Given the description of an element on the screen output the (x, y) to click on. 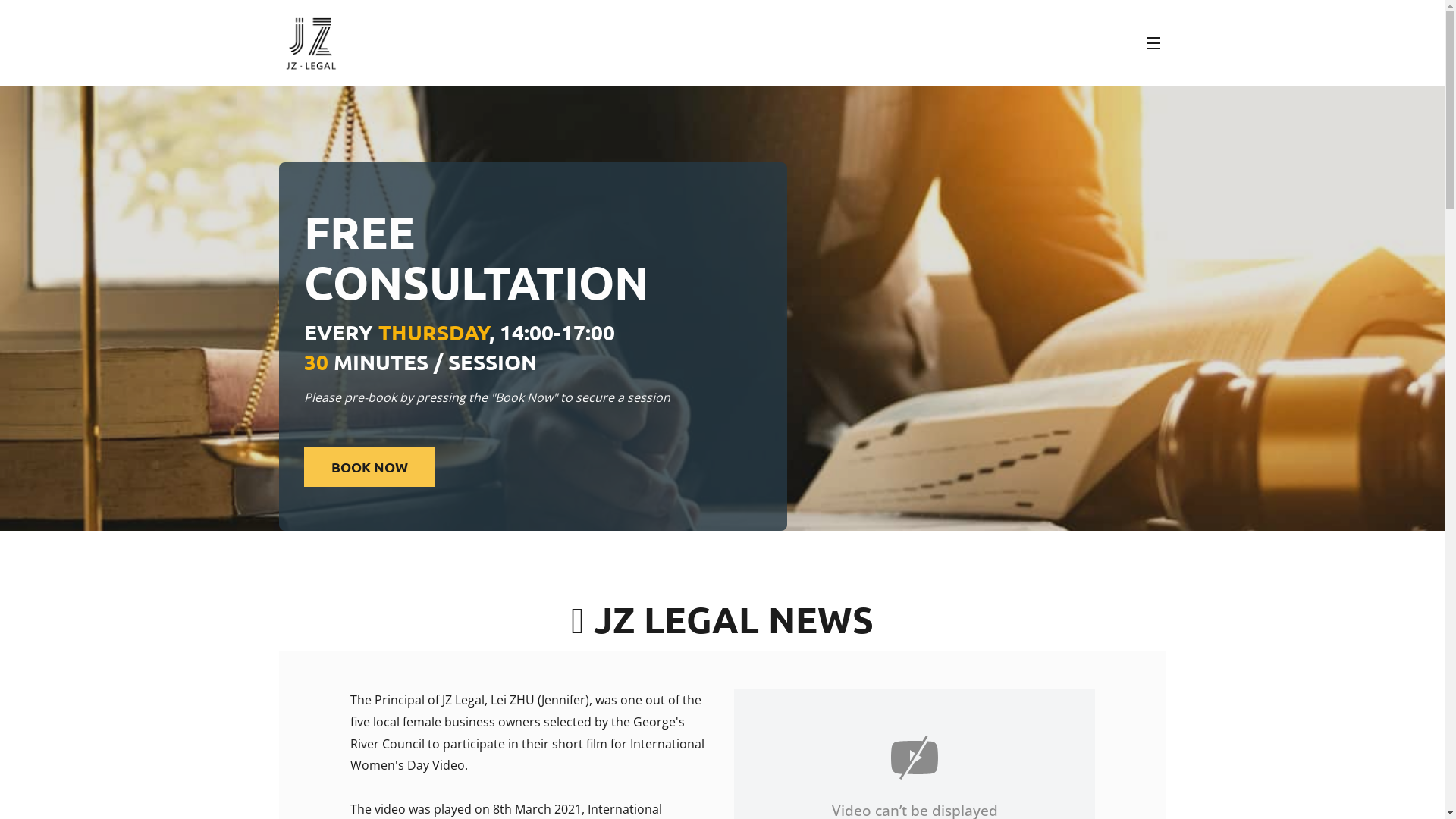
BOOK NOW Element type: text (369, 466)
